Given the description of an element on the screen output the (x, y) to click on. 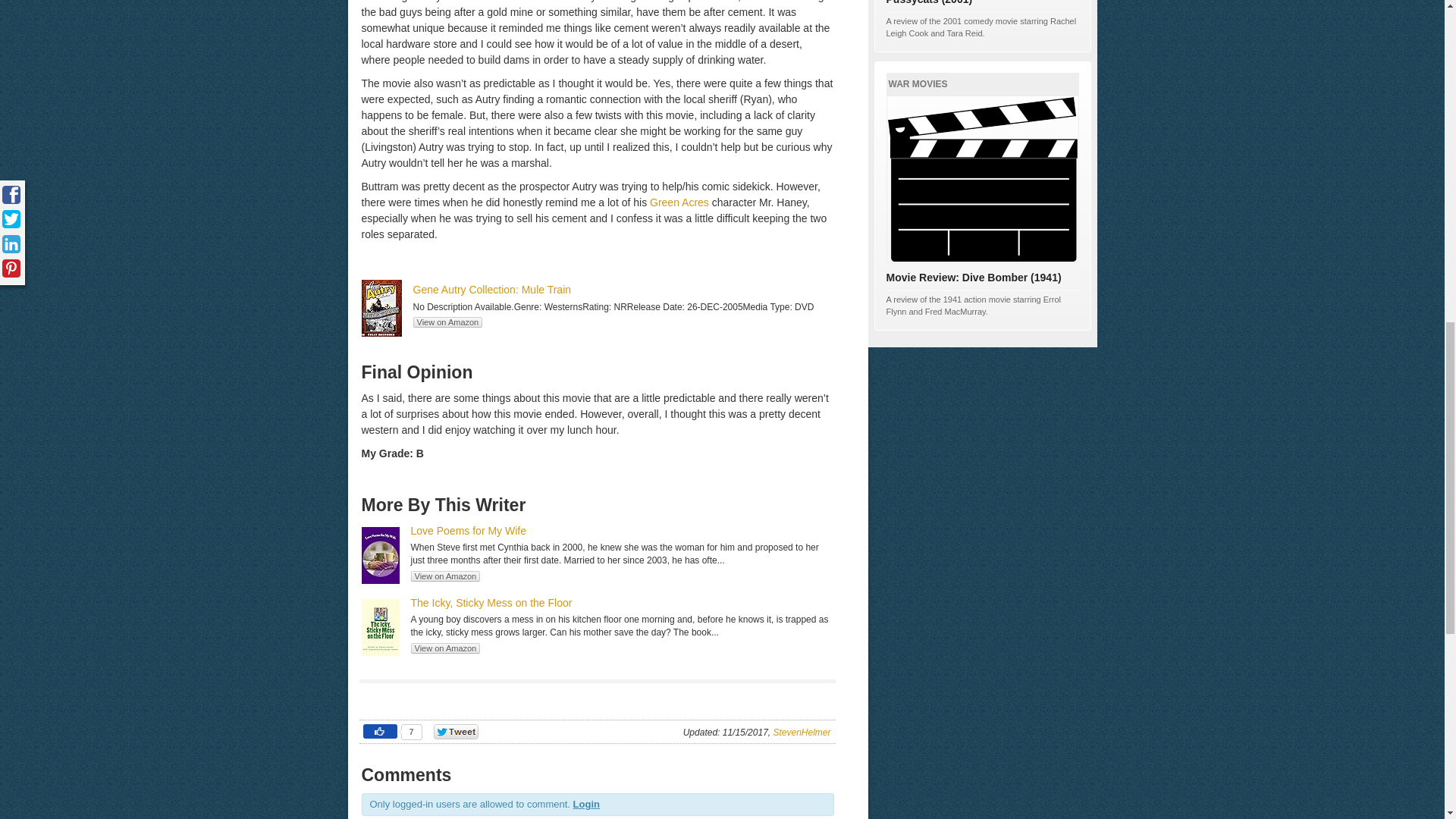
View on Amazon (445, 647)
Gene Autry Collection: Mule Train (491, 289)
View on Amazon (446, 321)
View on Amazon (445, 575)
StevenHelmer (801, 732)
Green Acres (679, 202)
The Icky, Sticky Mess on the Floor (491, 603)
Love Poems for My Wife (468, 530)
